Given the description of an element on the screen output the (x, y) to click on. 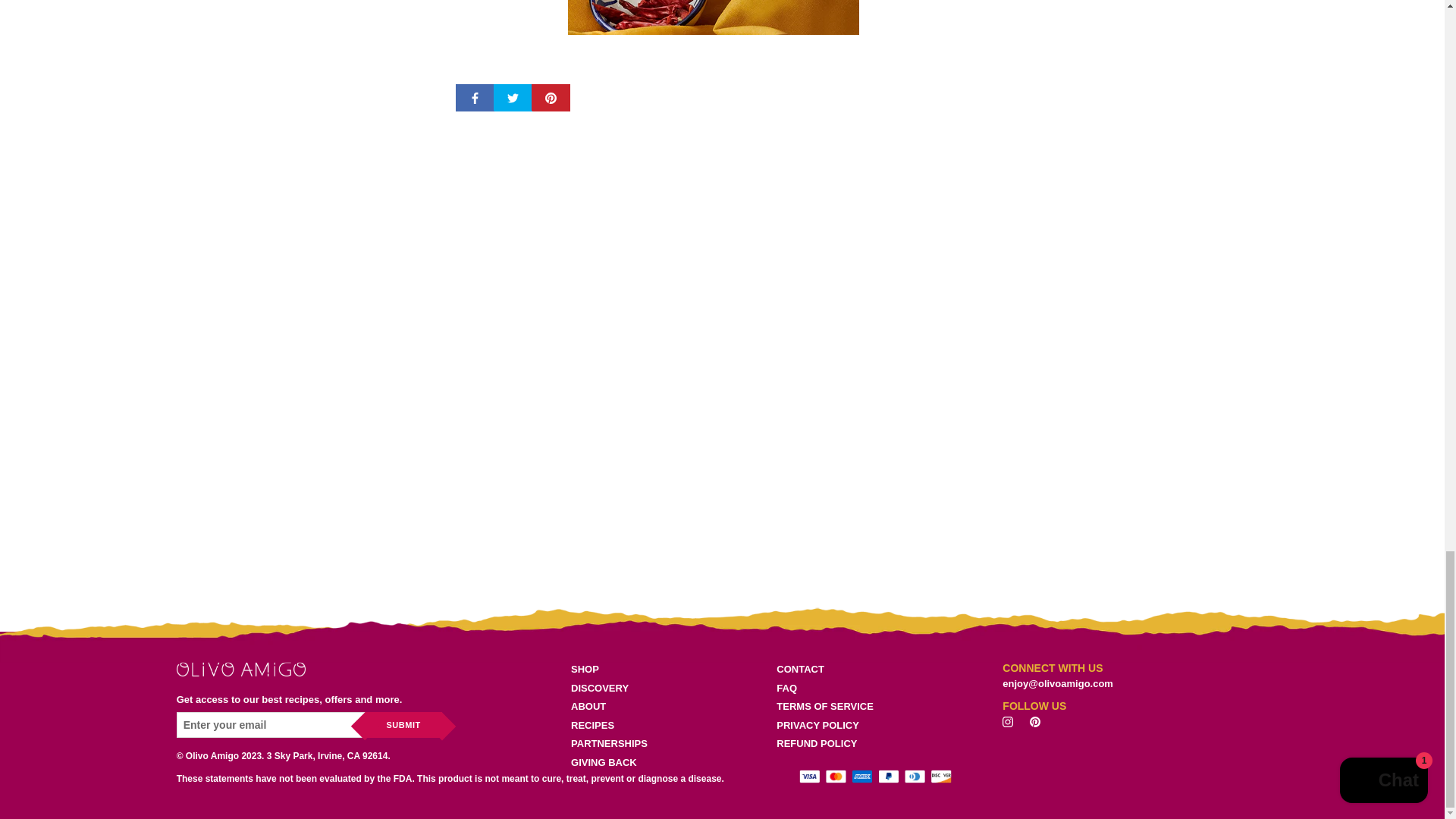
SUBMIT (403, 724)
ABOUT (608, 706)
DISCOVERY (608, 688)
RECIPES (608, 725)
Email Us (1058, 683)
PARTNERSHIPS (608, 743)
SHOP (608, 669)
